Given the description of an element on the screen output the (x, y) to click on. 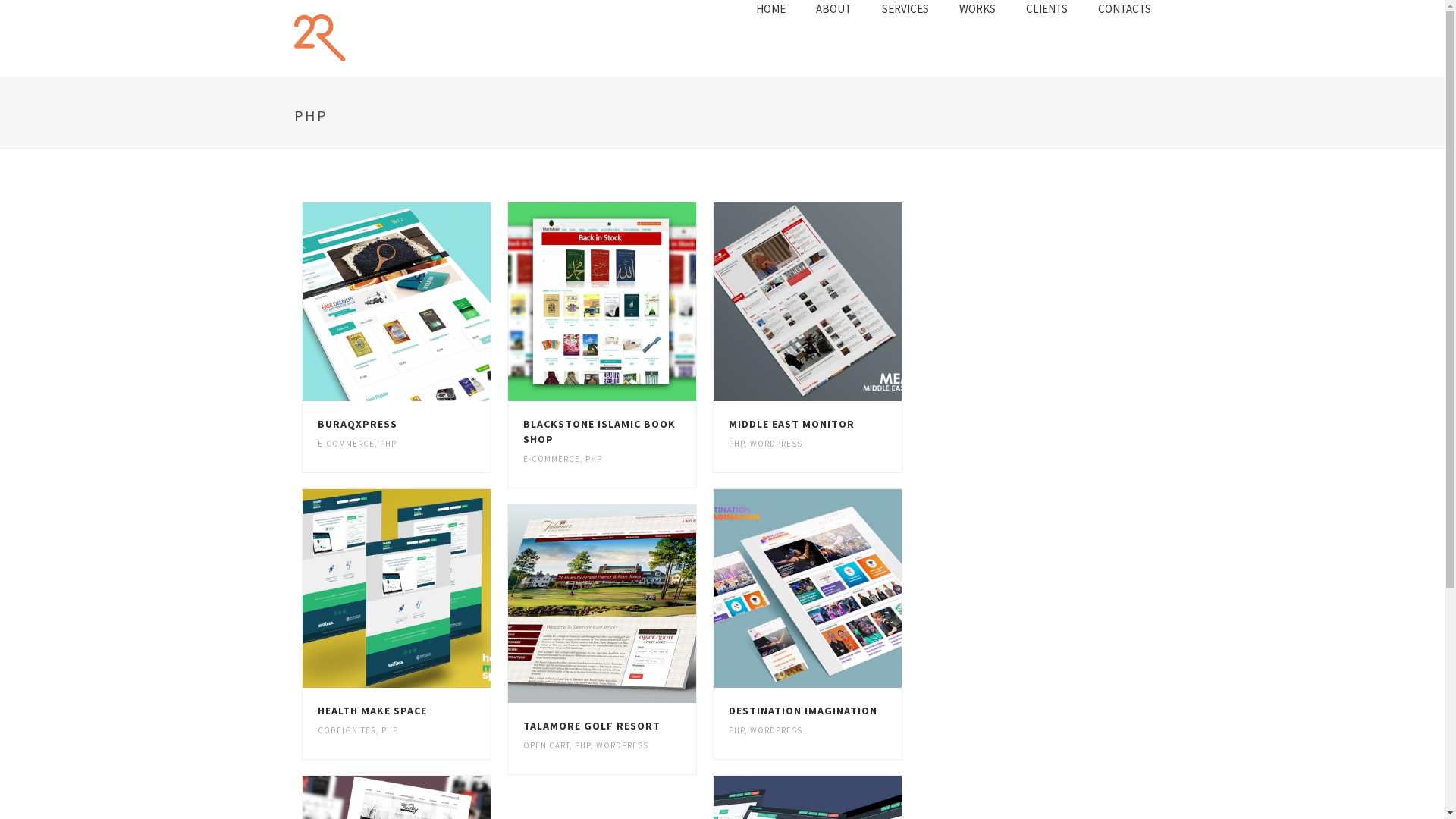
BLACKSTONE ISLAMIC BOOK SHOP Element type: text (599, 431)
CONTACTS Element type: text (1124, 9)
MIDDLE EAST MONITOR Element type: text (791, 423)
CODEIGNITER Element type: text (345, 729)
PHP Element type: text (736, 729)
E-COMMERCE Element type: text (551, 458)
WORDPRESS Element type: text (775, 443)
CLIENTS Element type: text (1046, 9)
PHP Element type: text (736, 443)
PHP Element type: text (387, 443)
WORKS Element type: text (976, 9)
TALAMORE GOLF RESORT Element type: text (591, 725)
BURAQXPRESS Element type: text (356, 423)
Talamore Golf Resort Element type: hover (602, 603)
E-COMMERCE Element type: text (344, 443)
PHP Element type: text (593, 458)
Destination Imagination Element type: hover (807, 588)
Buraqxpress Element type: hover (395, 301)
PHP Element type: text (582, 745)
ABOUT Element type: text (833, 9)
Blackstone Islamic book shop Element type: hover (602, 301)
SERVICES Element type: text (904, 9)
HOME Element type: text (770, 9)
Health Make Space Element type: hover (395, 588)
PHP Element type: text (388, 729)
OPEN CART Element type: text (546, 745)
WORDPRESS Element type: text (775, 729)
WORDPRESS Element type: text (622, 745)
HEALTH MAKE SPACE Element type: text (371, 710)
Middle East Monitor Element type: hover (807, 301)
DESTINATION IMAGINATION Element type: text (802, 710)
A reputed software outsourcing company in bangladesh Element type: hover (369, 37)
